Given the description of an element on the screen output the (x, y) to click on. 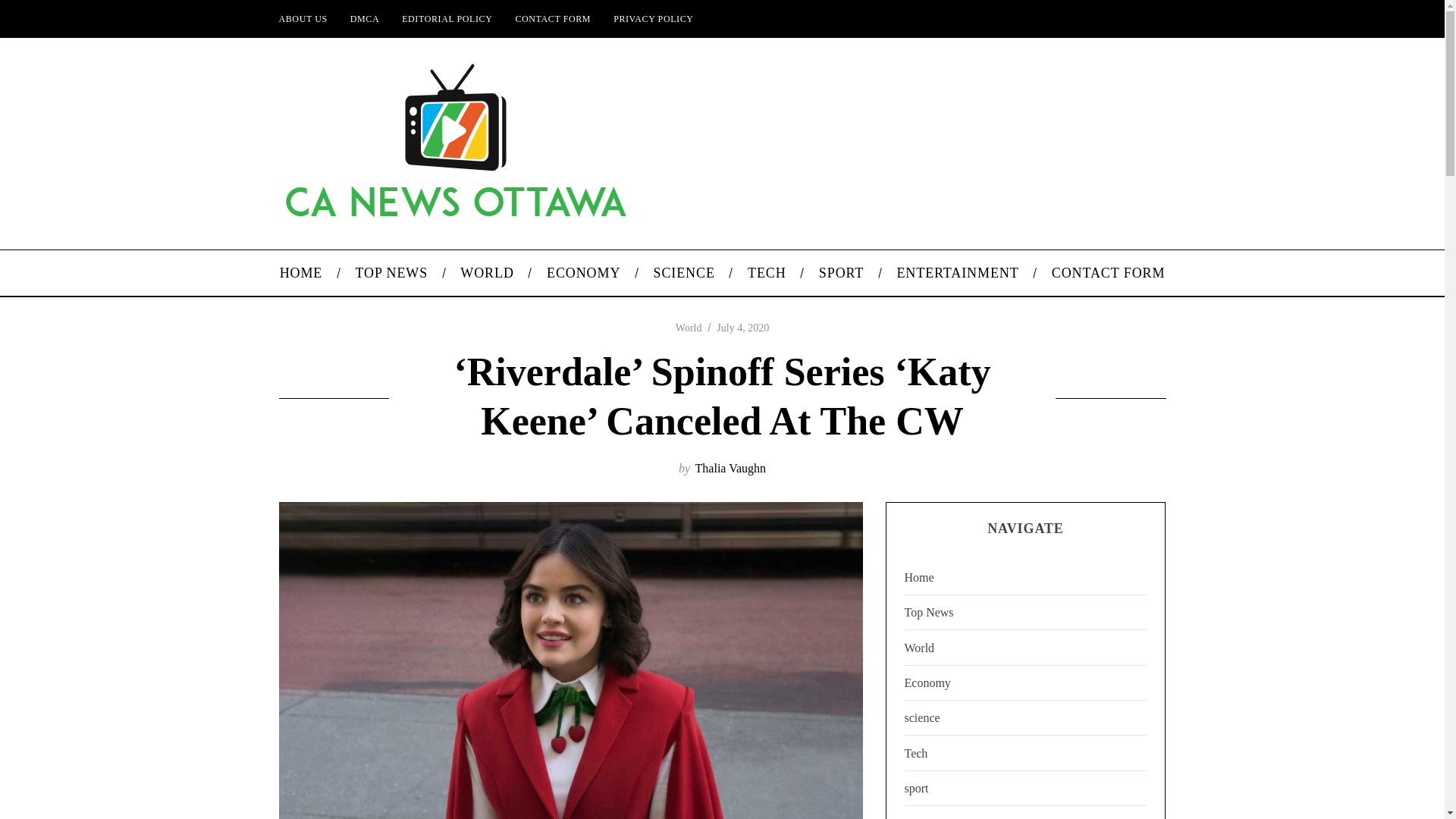
ABOUT US (301, 18)
ENTERTAINMENT (957, 272)
EDITORIAL POLICY (446, 18)
DMCA (364, 18)
CONTACT FORM (552, 18)
CONTACT FORM (1107, 272)
SPORT (841, 272)
PRIVACY POLICY (653, 18)
